Given the description of an element on the screen output the (x, y) to click on. 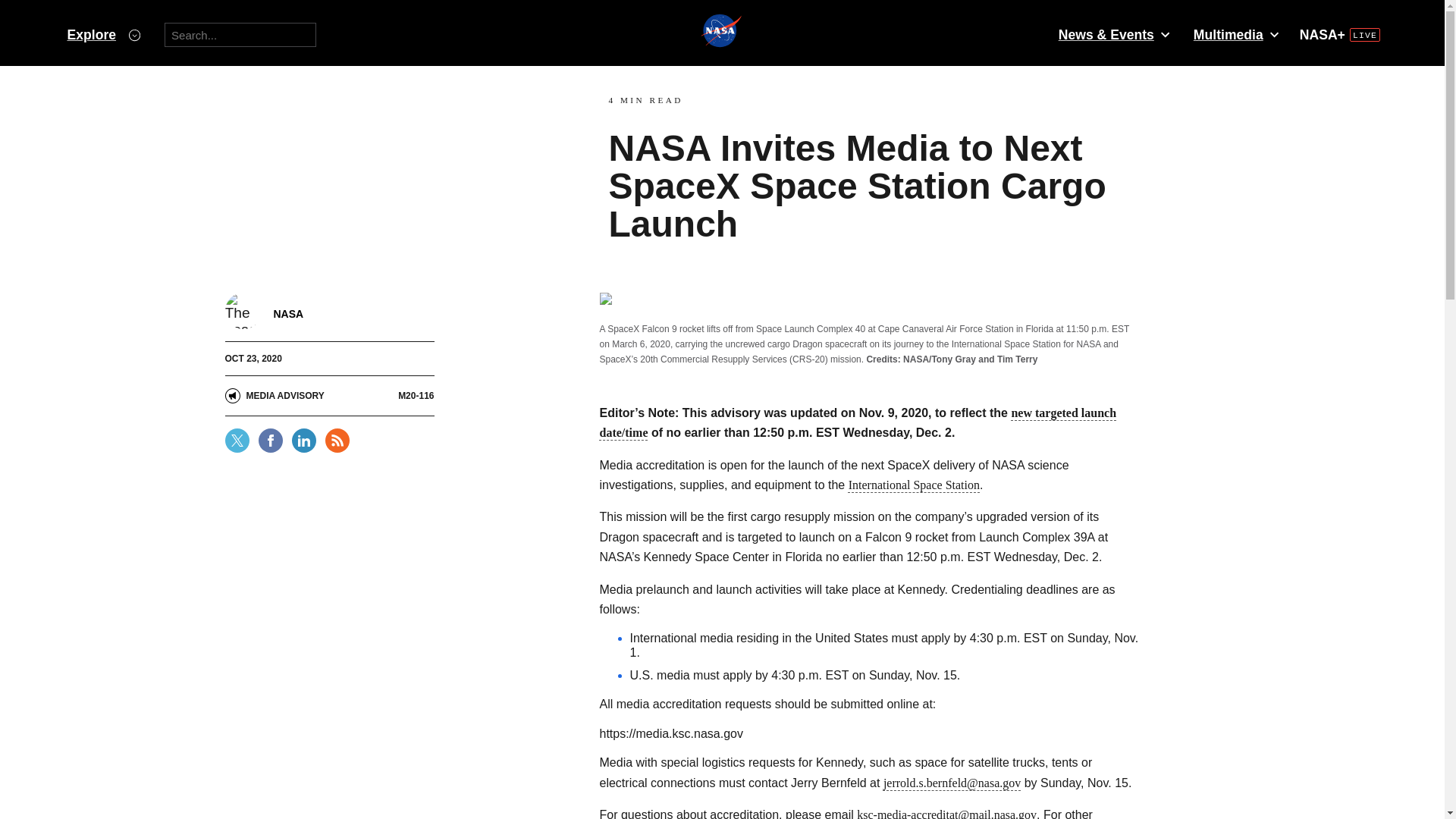
Multimedia (1235, 35)
Explore (103, 35)
International Space Station (913, 484)
